Given the description of an element on the screen output the (x, y) to click on. 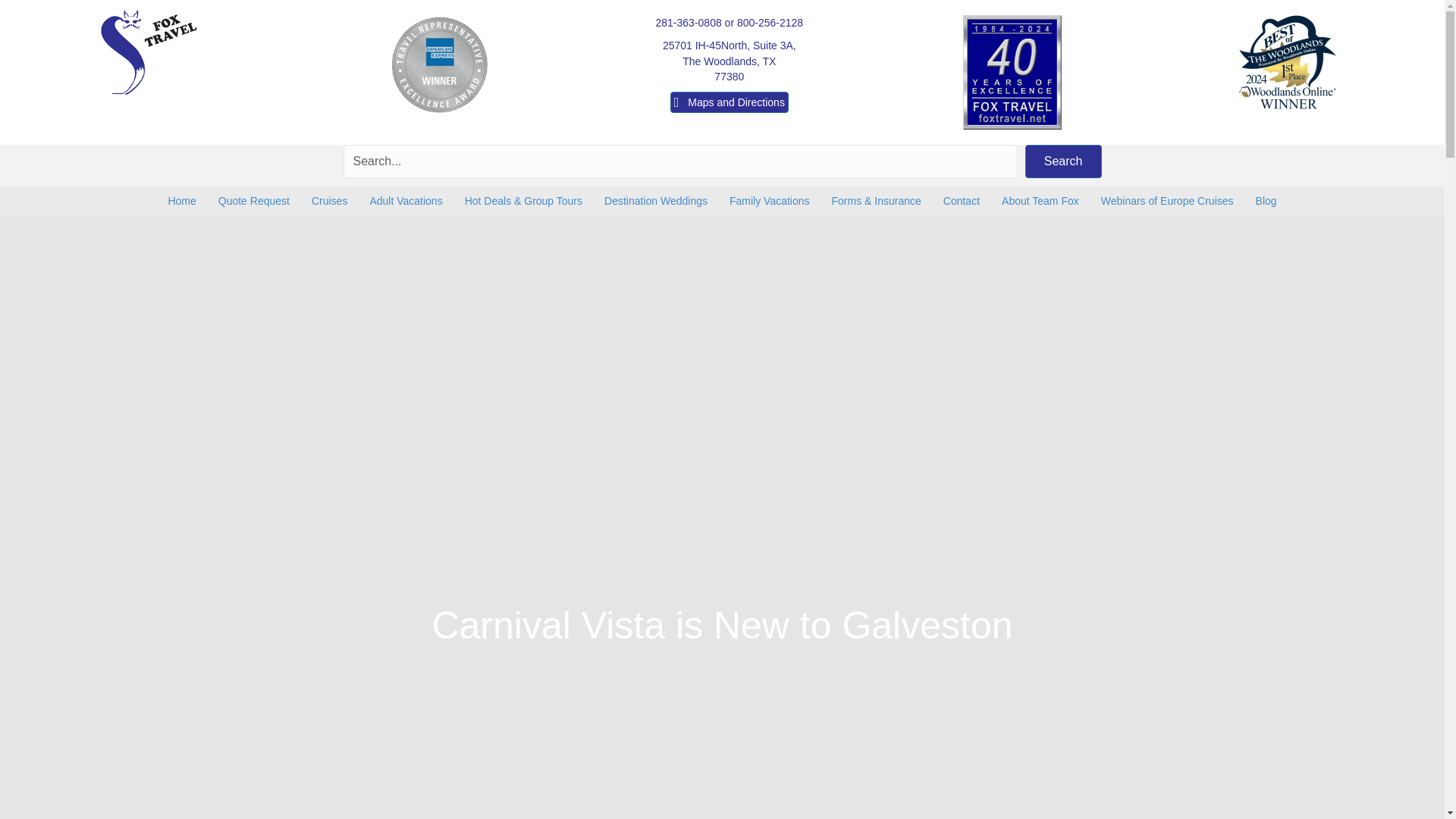
Home (181, 200)
Search (729, 60)
Adult Vacations (1063, 161)
Maps and Directions (405, 200)
Quote Request (729, 102)
Fox logo square (253, 200)
Cruises (148, 51)
